Given the description of an element on the screen output the (x, y) to click on. 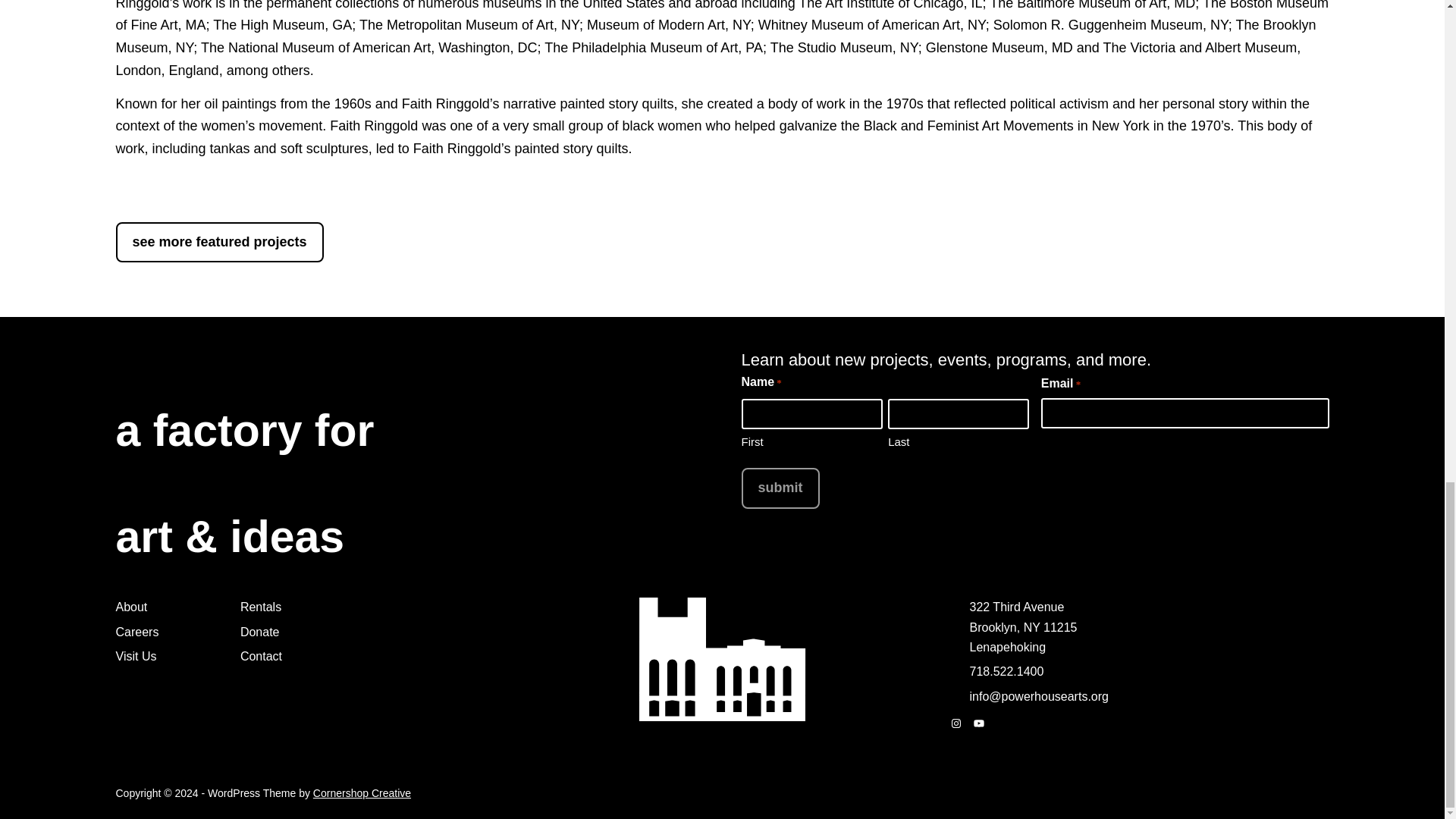
Submit (780, 487)
